Given the description of an element on the screen output the (x, y) to click on. 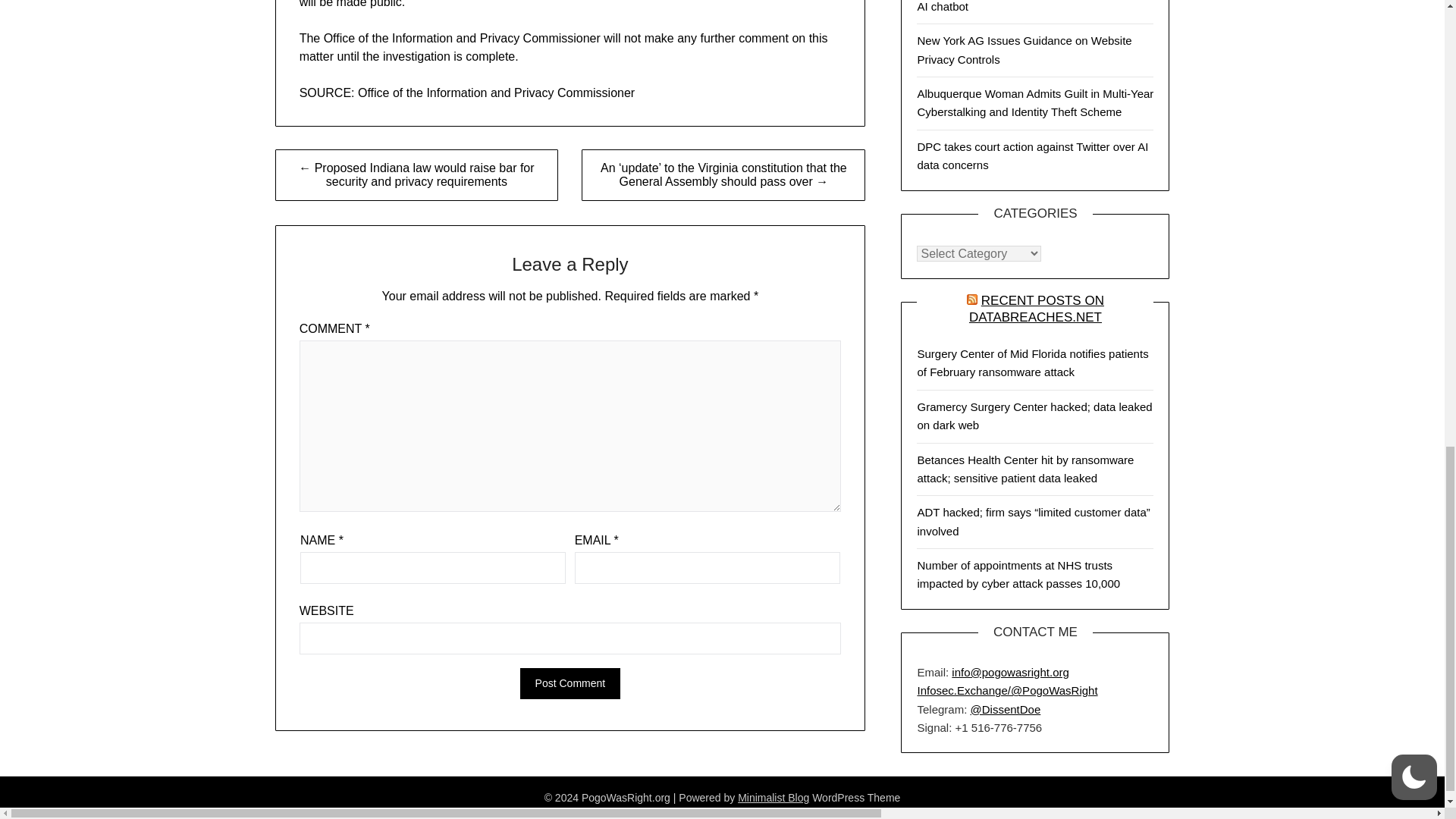
Minimalist Blog (773, 797)
DPC takes court action against Twitter over AI data concerns (1032, 155)
RECENT POSTS ON DATABREACHES.NET (1036, 308)
New York AG Issues Guidance on Website Privacy Controls (1024, 49)
Post Comment (570, 683)
Post Comment (570, 683)
Gramercy Surgery Center hacked; data leaked on dark web (1034, 415)
